Given the description of an element on the screen output the (x, y) to click on. 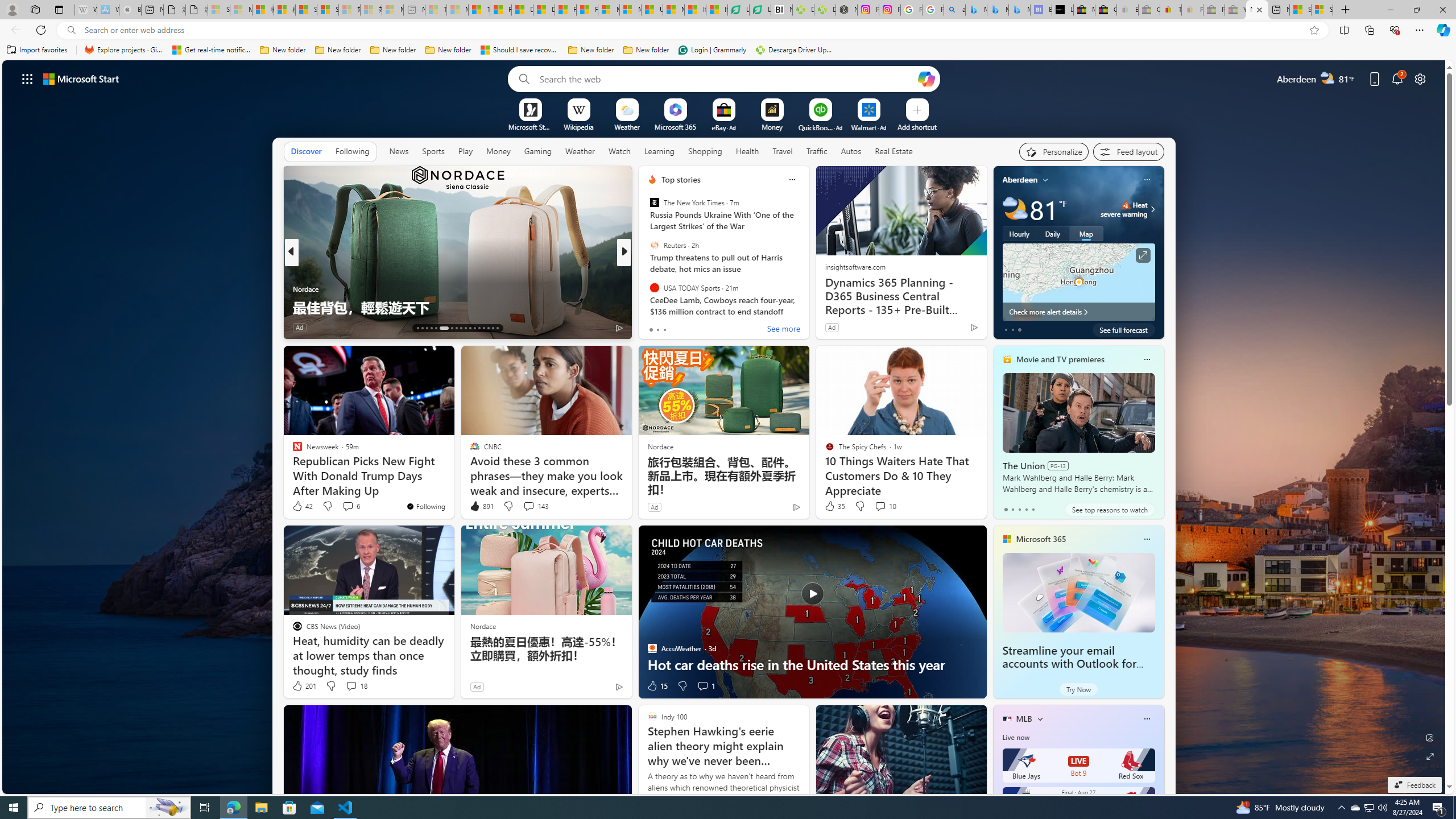
Blue Jays LIVE Bot 9 Red Sox (1077, 765)
113 Like (654, 327)
18 Low-Class Behaviors To Ditch Immediately (807, 307)
Login | Grammarly (712, 49)
Streamline your email accounts with Outlook for Windows (1077, 592)
View comments 10 Comment (879, 505)
Feed settings (1128, 151)
See top reasons to watch (1109, 509)
Class: weather-arrow-glyph (1152, 208)
AutomationID: tab-33 (497, 328)
Simply More Time (647, 288)
